Given the description of an element on the screen output the (x, y) to click on. 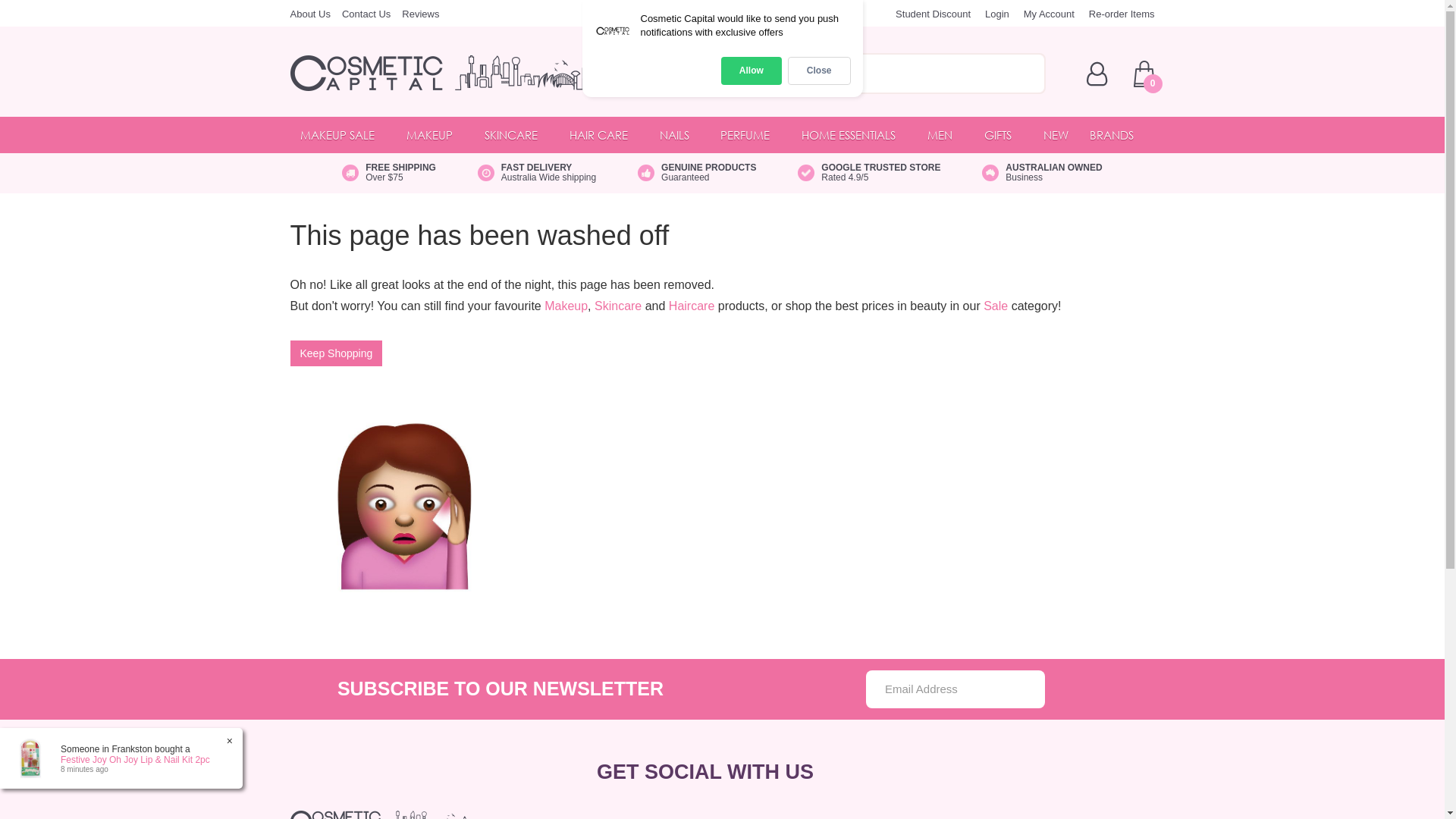
Keep Shopping Element type: text (335, 353)
HAIR CARE Element type: text (603, 134)
Haircare Element type: text (691, 305)
Contact Us Element type: text (366, 13)
Cosmetic Capital Element type: hover (463, 73)
About Us Element type: text (309, 13)
Login Element type: text (997, 13)
Student Discount Element type: text (932, 13)
GENUINE PRODUCTS
Guaranteed Element type: text (696, 172)
Re-order Items Element type: text (1121, 13)
HOME ESSENTIALS Element type: text (853, 134)
Skincare Element type: text (617, 305)
GIFTS Element type: text (1002, 134)
Makeup Element type: text (565, 305)
MAKEUP Element type: text (434, 134)
GOOGLE TRUSTED STORE
Rated 4.9/5 Element type: text (868, 172)
AUSTRALIAN OWNED
Business Element type: text (1041, 172)
PERFUME Element type: text (750, 134)
Search Element type: text (1028, 73)
NEW Element type: text (1055, 134)
SKINCARE Element type: text (515, 134)
MAKEUP SALE Element type: text (342, 134)
BRANDS Element type: text (1116, 134)
My Account Element type: text (1048, 13)
Reviews Element type: text (420, 13)
0 Element type: text (1143, 73)
FREE SHIPPING
Over $75 Element type: text (389, 172)
NAILS Element type: text (679, 134)
MEN Element type: text (944, 134)
FAST DELIVERY
Australia Wide shipping Element type: text (536, 172)
Sale Element type: text (995, 305)
